Given the description of an element on the screen output the (x, y) to click on. 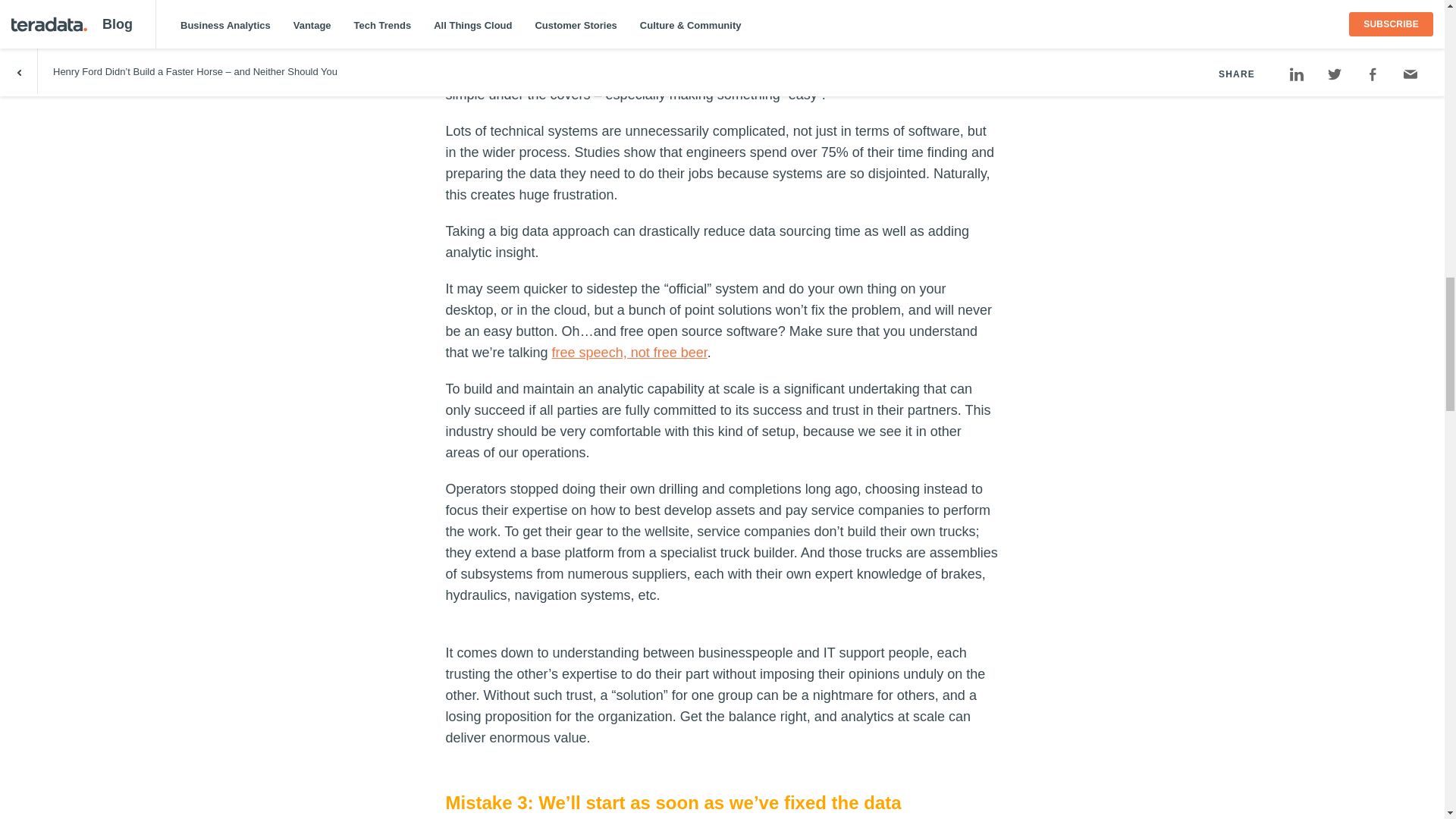
free speech, not free beer (629, 352)
